Given the description of an element on the screen output the (x, y) to click on. 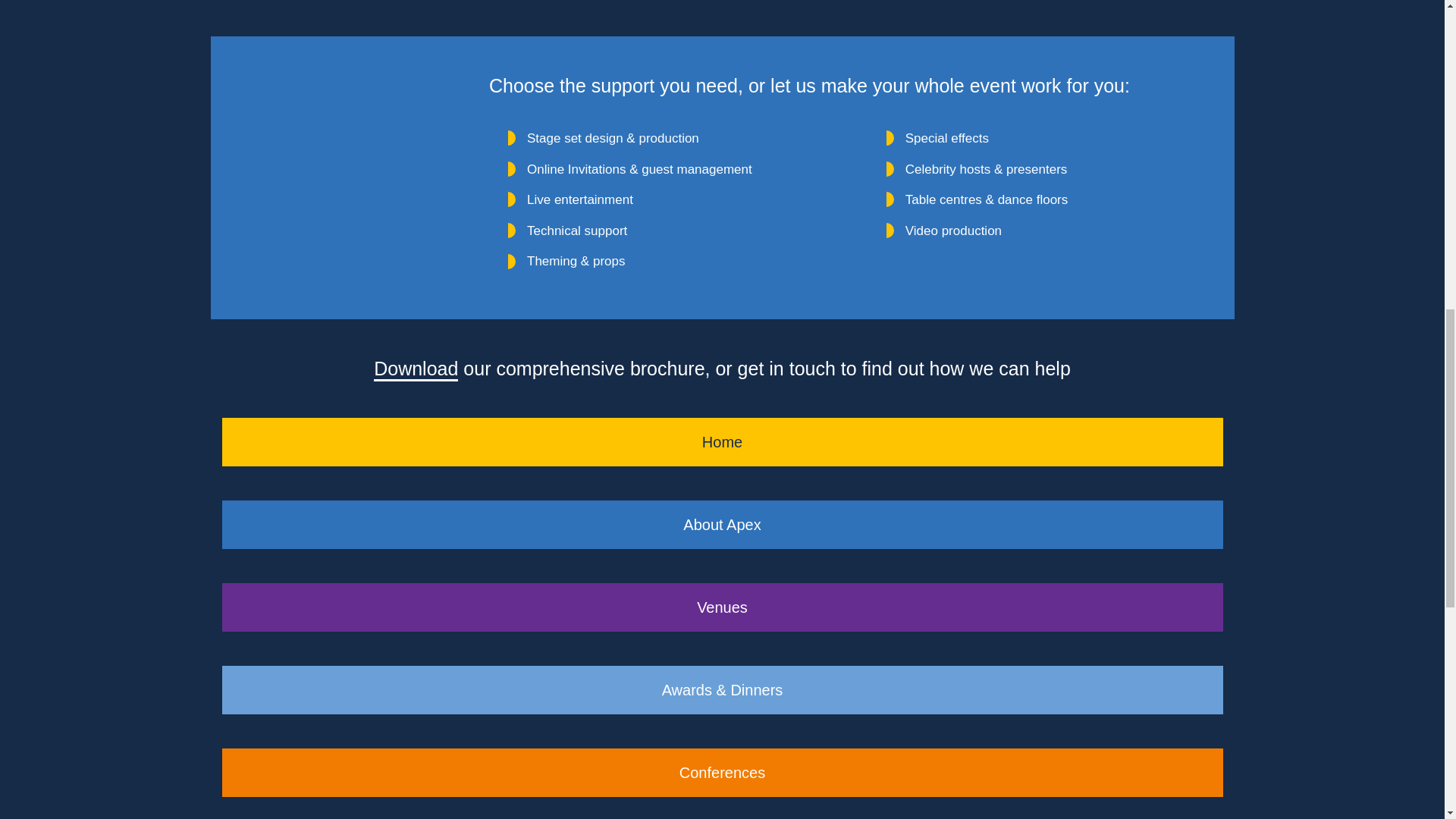
Conferences (722, 772)
Download (416, 369)
About Apex (722, 524)
Home (722, 441)
Venues (722, 607)
